Given the description of an element on the screen output the (x, y) to click on. 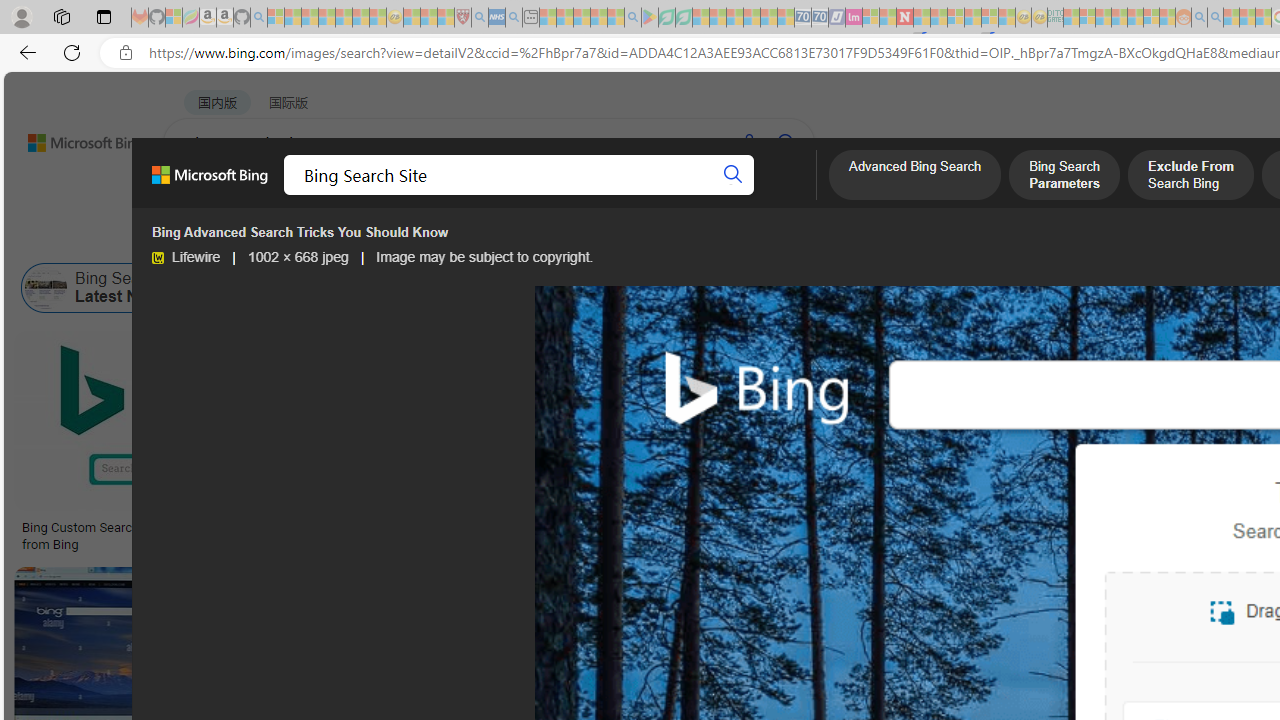
Bing - SEOLendSave (497, 444)
Image size (222, 237)
Advanced Bing Search (914, 177)
Bing - SEOLend (386, 528)
DICT (717, 195)
Color (305, 237)
